Given the description of an element on the screen output the (x, y) to click on. 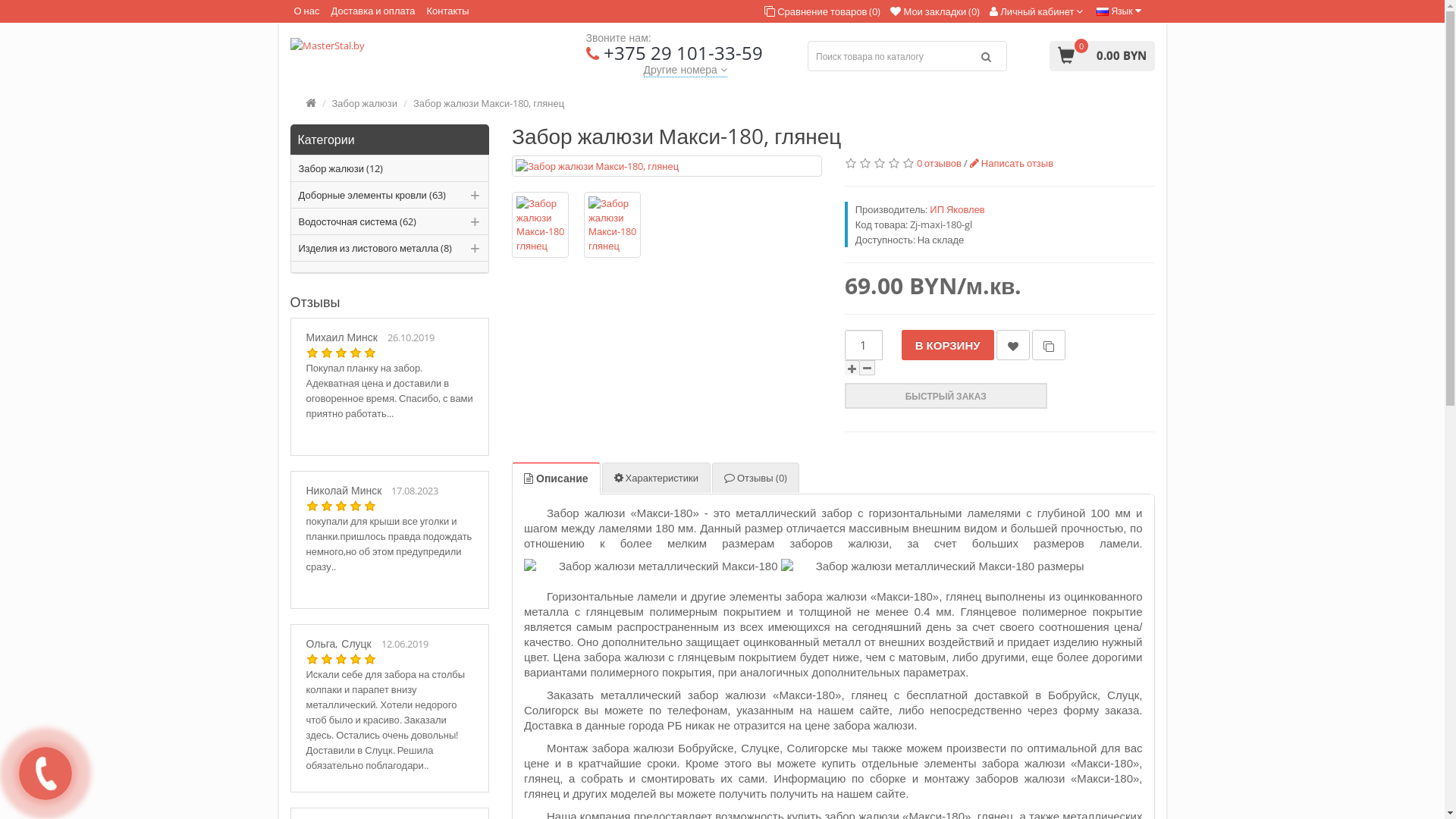
Russian Element type: hover (1102, 11)
MasterStal.by Element type: hover (425, 45)
0 0.00 BYN Element type: text (1101, 55)
